Given the description of an element on the screen output the (x, y) to click on. 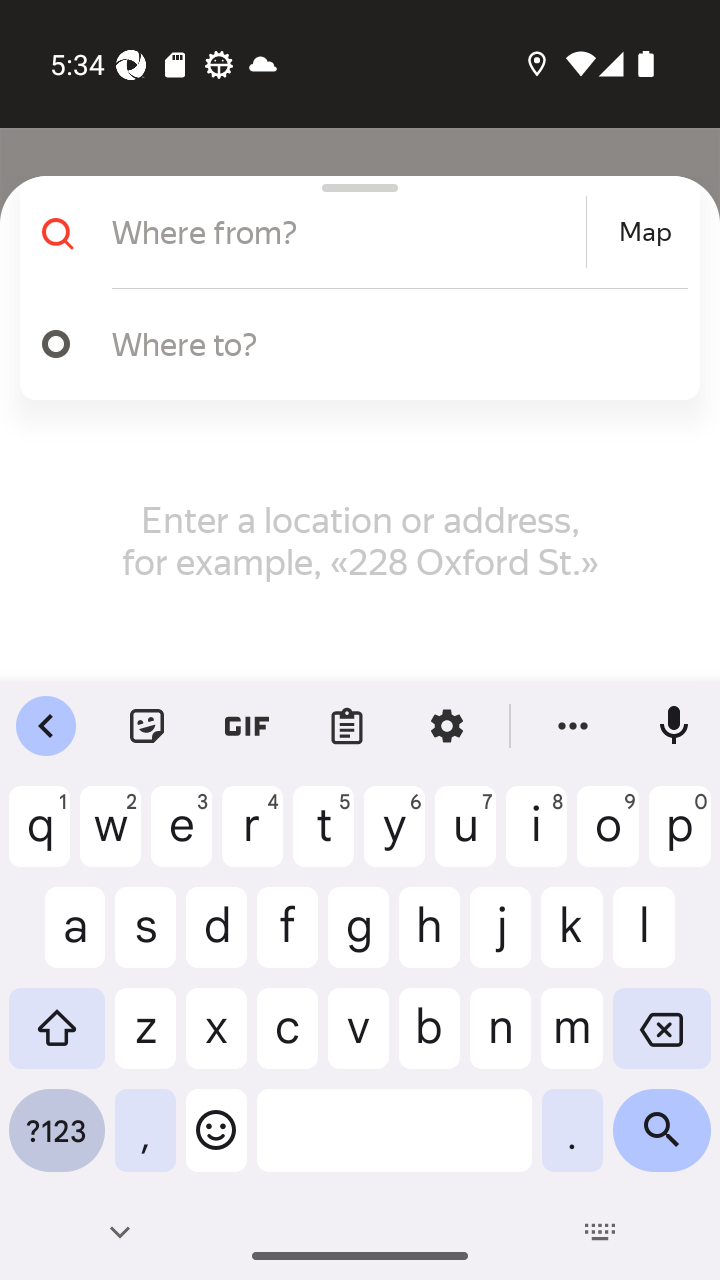
Where from? Map Map (352, 232)
Map (645, 232)
Where from? (346, 232)
Where to? (352, 343)
Where to? (390, 343)
